Given the description of an element on the screen output the (x, y) to click on. 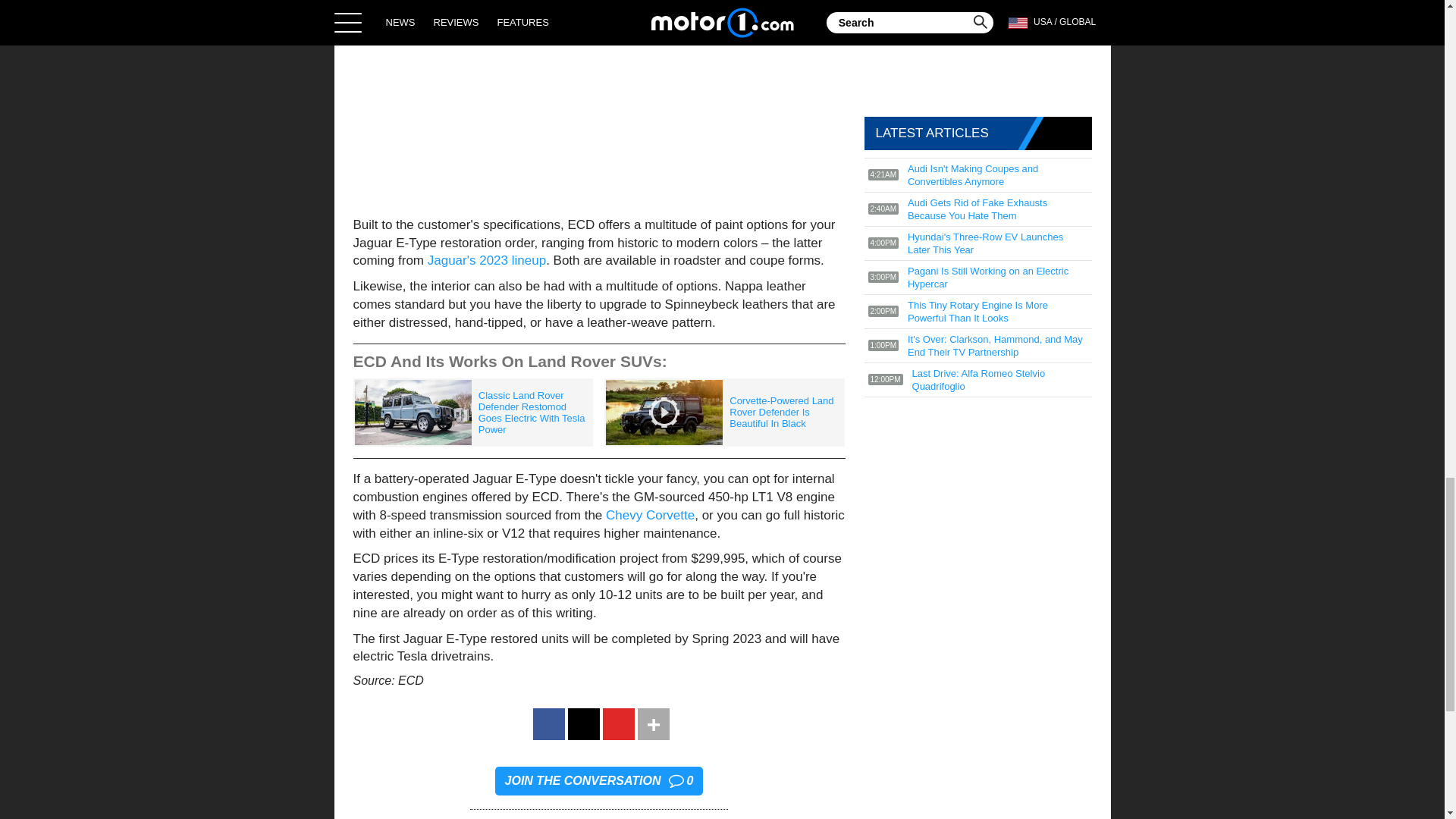
Chevy Corvette (648, 514)
Jaguar's 2023 lineup (487, 260)
